Given the description of an element on the screen output the (x, y) to click on. 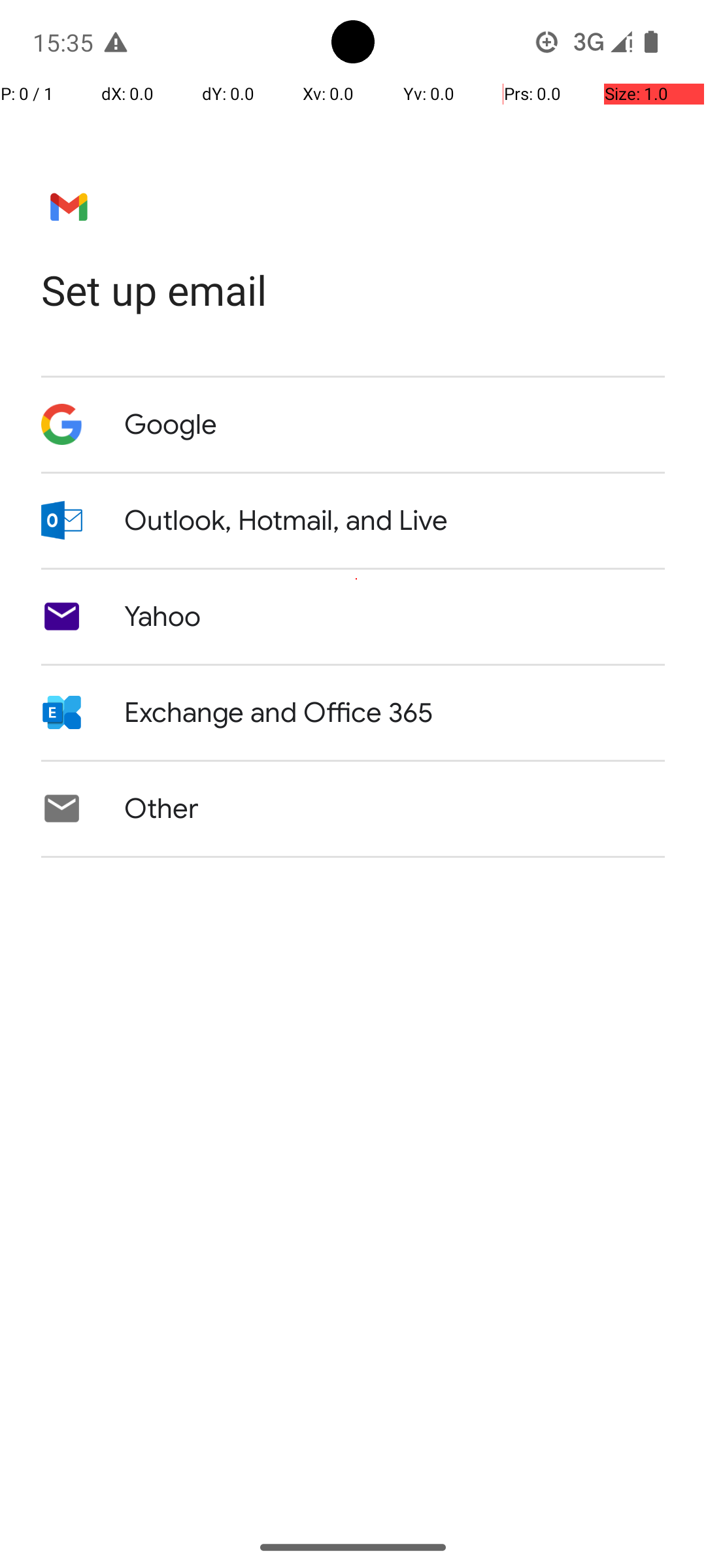
Set up email Element type: android.widget.TextView (352, 289)
Google Element type: android.widget.TextView (170, 424)
Outlook, Hotmail, and Live Element type: android.widget.TextView (286, 520)
Yahoo Element type: android.widget.TextView (162, 616)
Exchange and Office 365 Element type: android.widget.TextView (278, 712)
